Given the description of an element on the screen output the (x, y) to click on. 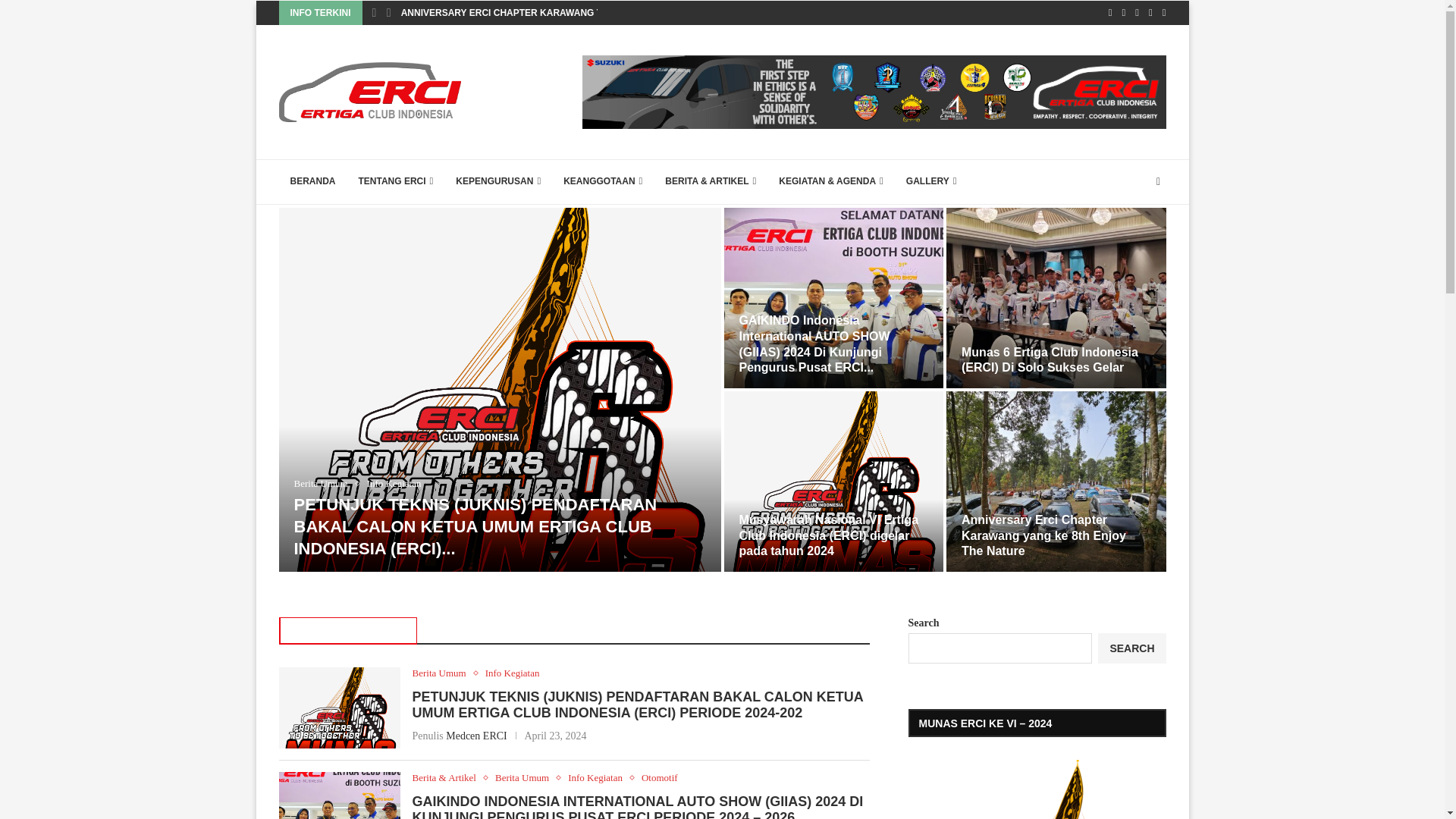
BERANDA (313, 181)
TENTANG ERCI (396, 181)
